Given the description of an element on the screen output the (x, y) to click on. 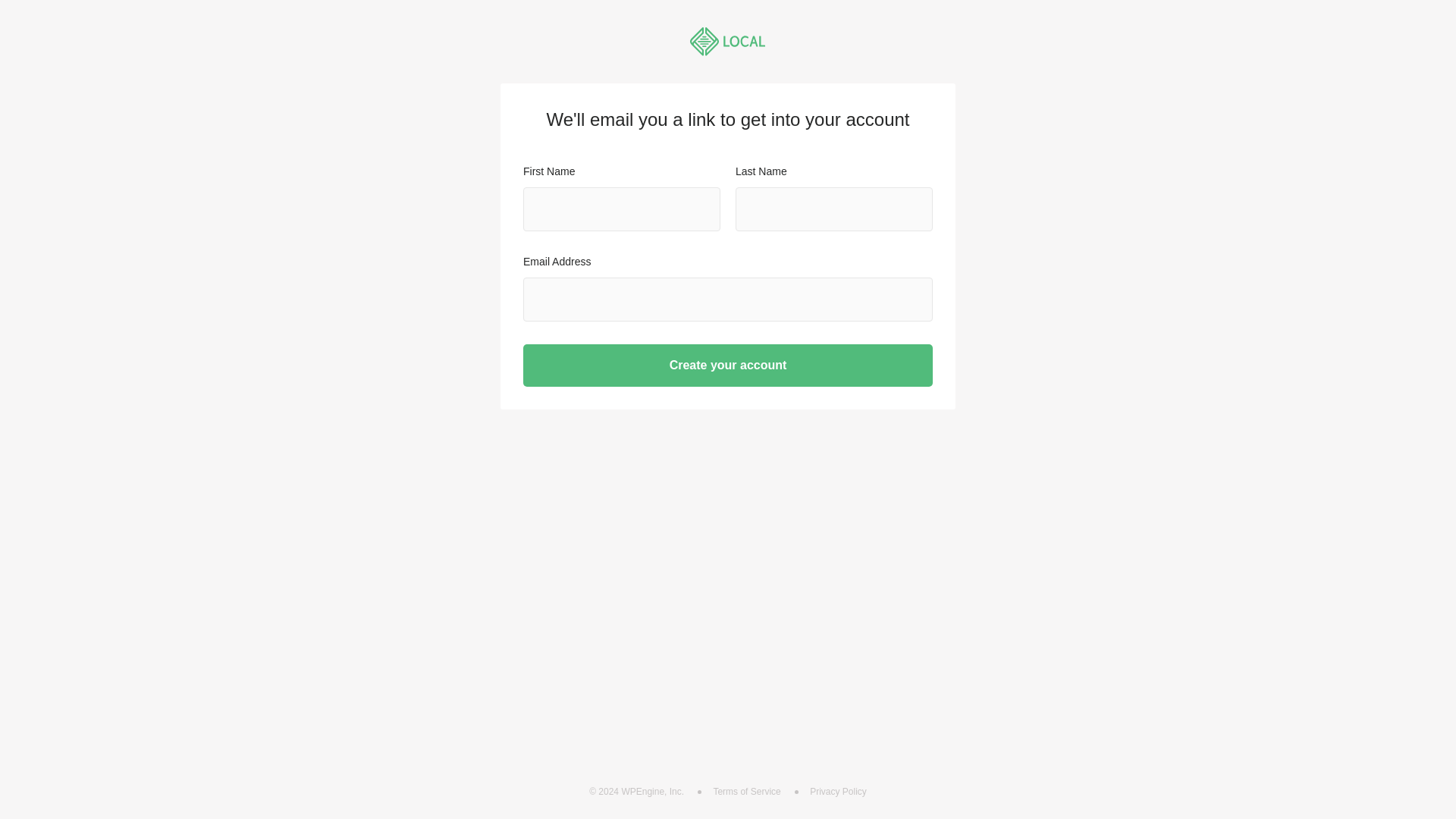
Create your account (727, 364)
Terms of Service (746, 790)
Privacy Policy (837, 790)
